Given the description of an element on the screen output the (x, y) to click on. 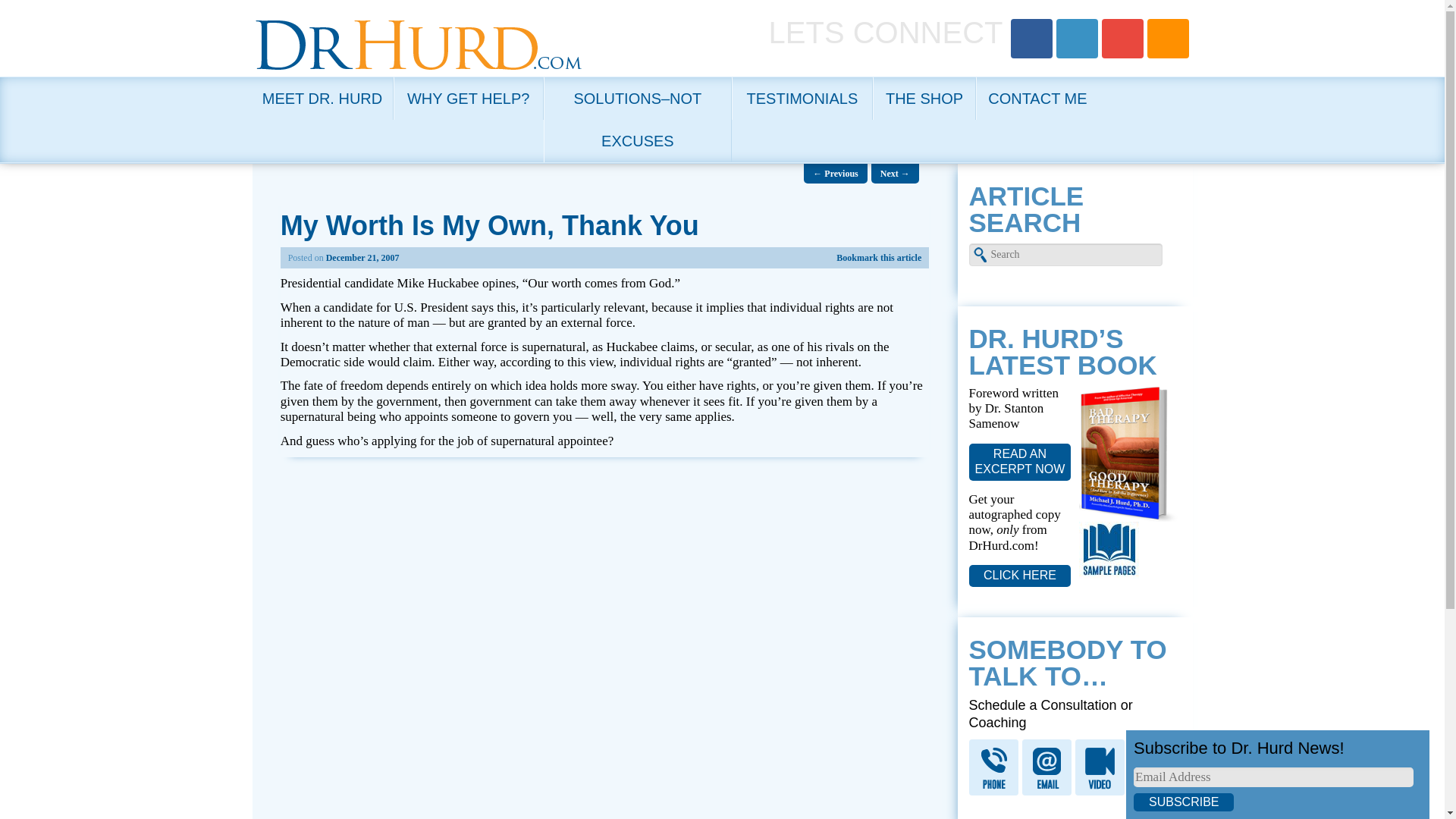
THE SHOP (923, 97)
READ AN EXCERPT NOW (1020, 461)
TESTIMONIALS (802, 97)
CLICK HERE (1020, 575)
Search (18, 11)
WHY GET HELP? (468, 97)
CONTACT ME (1036, 97)
Bookmark this article (878, 257)
MEET DR. HURD (322, 97)
